Given the description of an element on the screen output the (x, y) to click on. 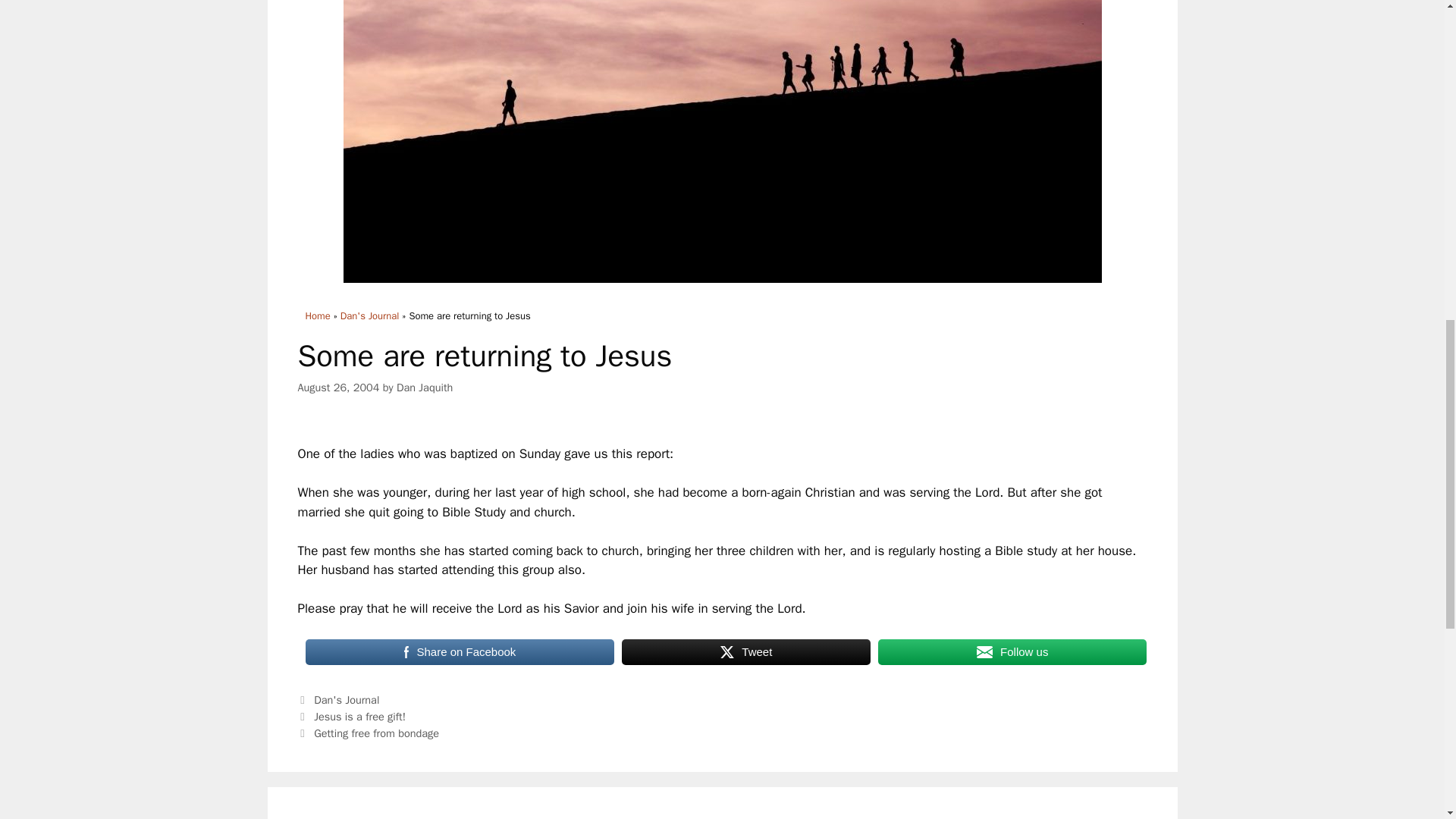
Jesus is a free gift! (360, 716)
Share on Facebook (459, 652)
Previous (351, 716)
View all posts by Dan Jaquith (424, 386)
Next (368, 733)
Home (317, 315)
Tweet (745, 652)
Dan's Journal (369, 315)
Dan Jaquith (424, 386)
8:18 am (337, 386)
